Given the description of an element on the screen output the (x, y) to click on. 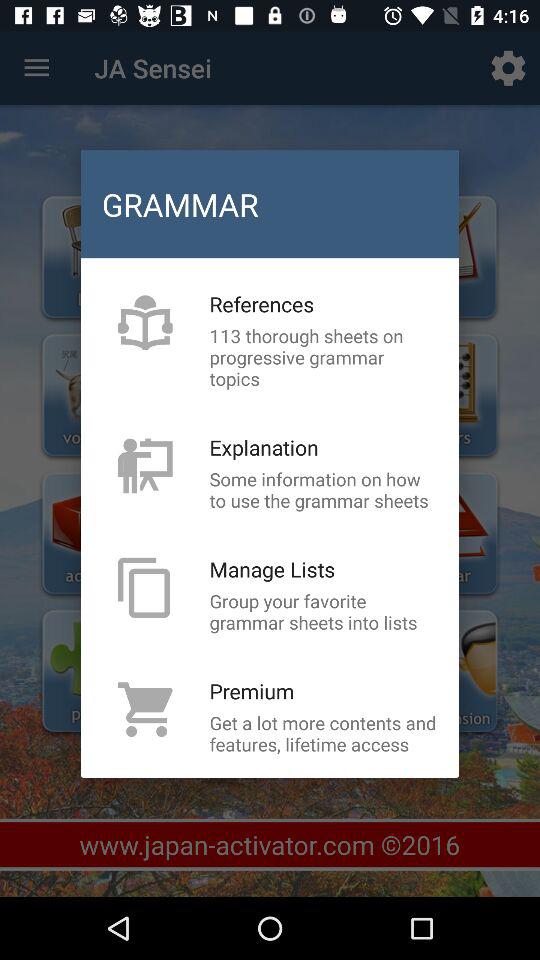
launch icon below 113 thorough sheets icon (263, 447)
